Given the description of an element on the screen output the (x, y) to click on. 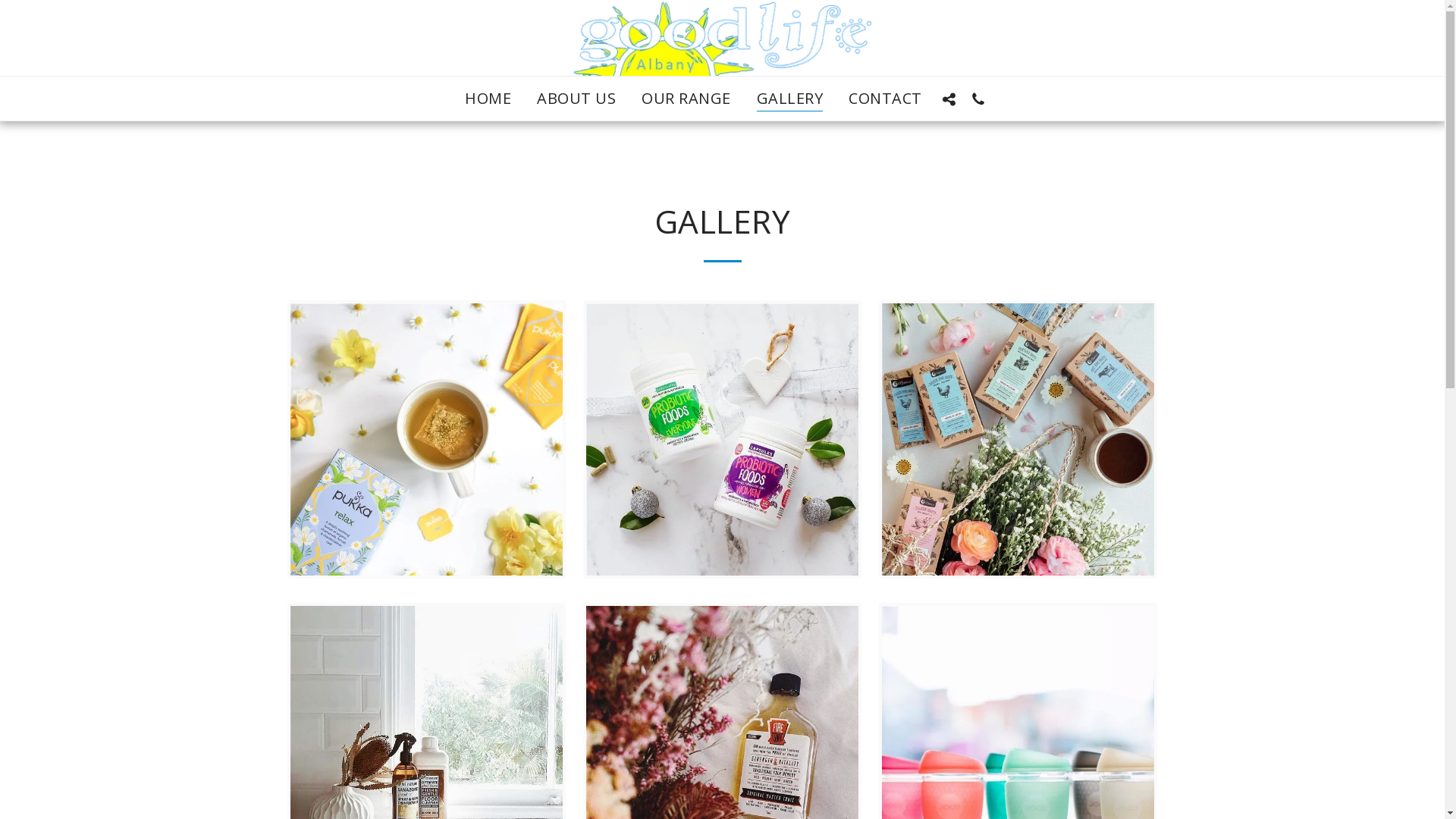
CONTACT Element type: text (885, 98)
ABOUT US Element type: text (575, 98)
OUR RANGE Element type: text (686, 98)
GALLERY Element type: text (789, 98)
  Element type: text (977, 98)
HOME Element type: text (487, 98)
  Element type: text (949, 98)
